Given the description of an element on the screen output the (x, y) to click on. 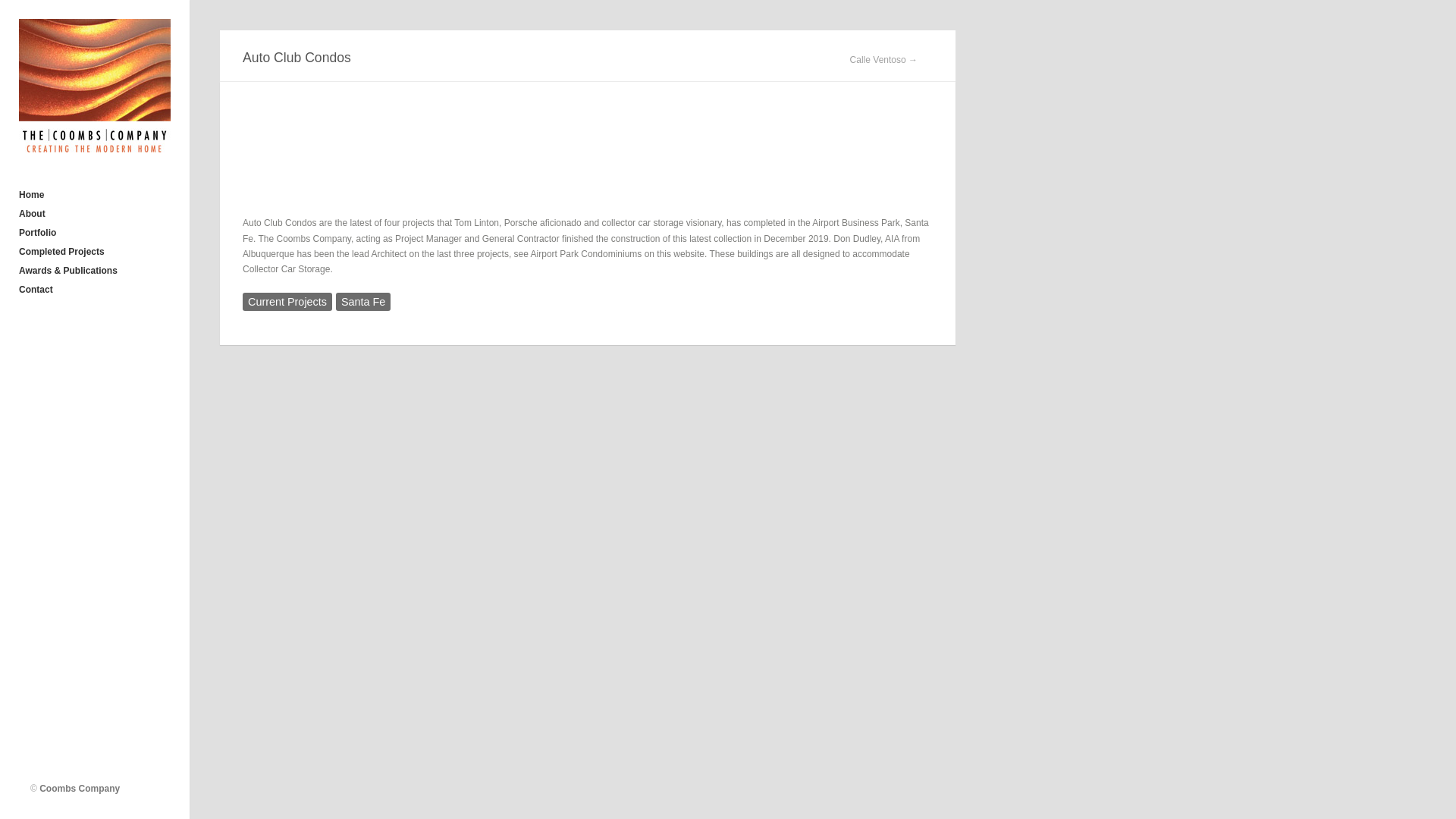
Contact (90, 289)
Portfolio (90, 232)
About (90, 213)
Current Projects (287, 301)
Santa Fe (363, 301)
Completed Projects (90, 251)
Home (90, 194)
